Given the description of an element on the screen output the (x, y) to click on. 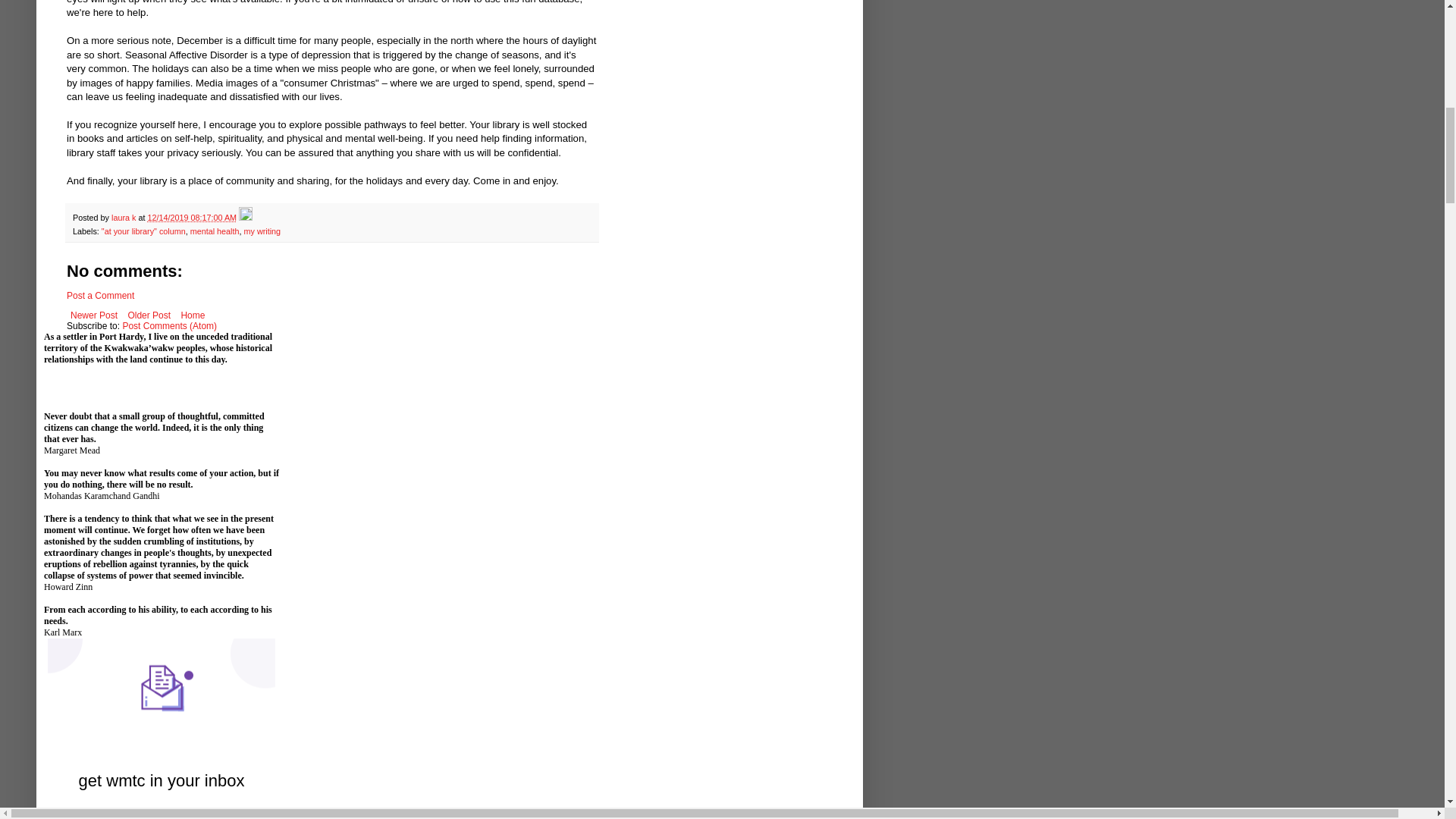
Home (192, 315)
author profile (125, 216)
Older Post (148, 315)
Newer Post (93, 315)
my writing (262, 230)
mental health (215, 230)
Older Post (148, 315)
Newer Post (93, 315)
permanent link (191, 216)
Post a Comment (99, 295)
laura k (125, 216)
"at your library" column (143, 230)
Edit Post (244, 216)
